Given the description of an element on the screen output the (x, y) to click on. 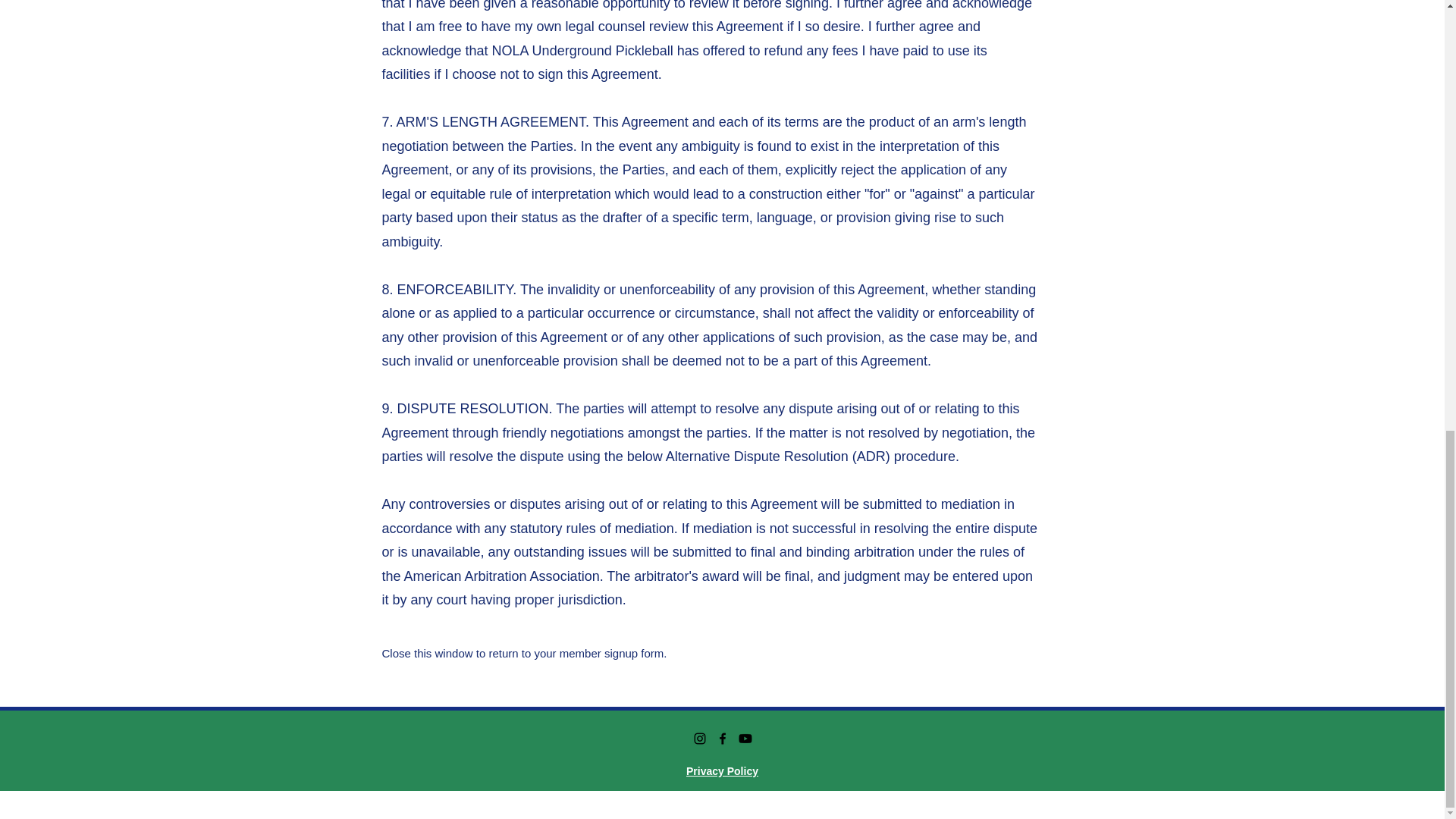
Privacy Policy (721, 770)
